Given the description of an element on the screen output the (x, y) to click on. 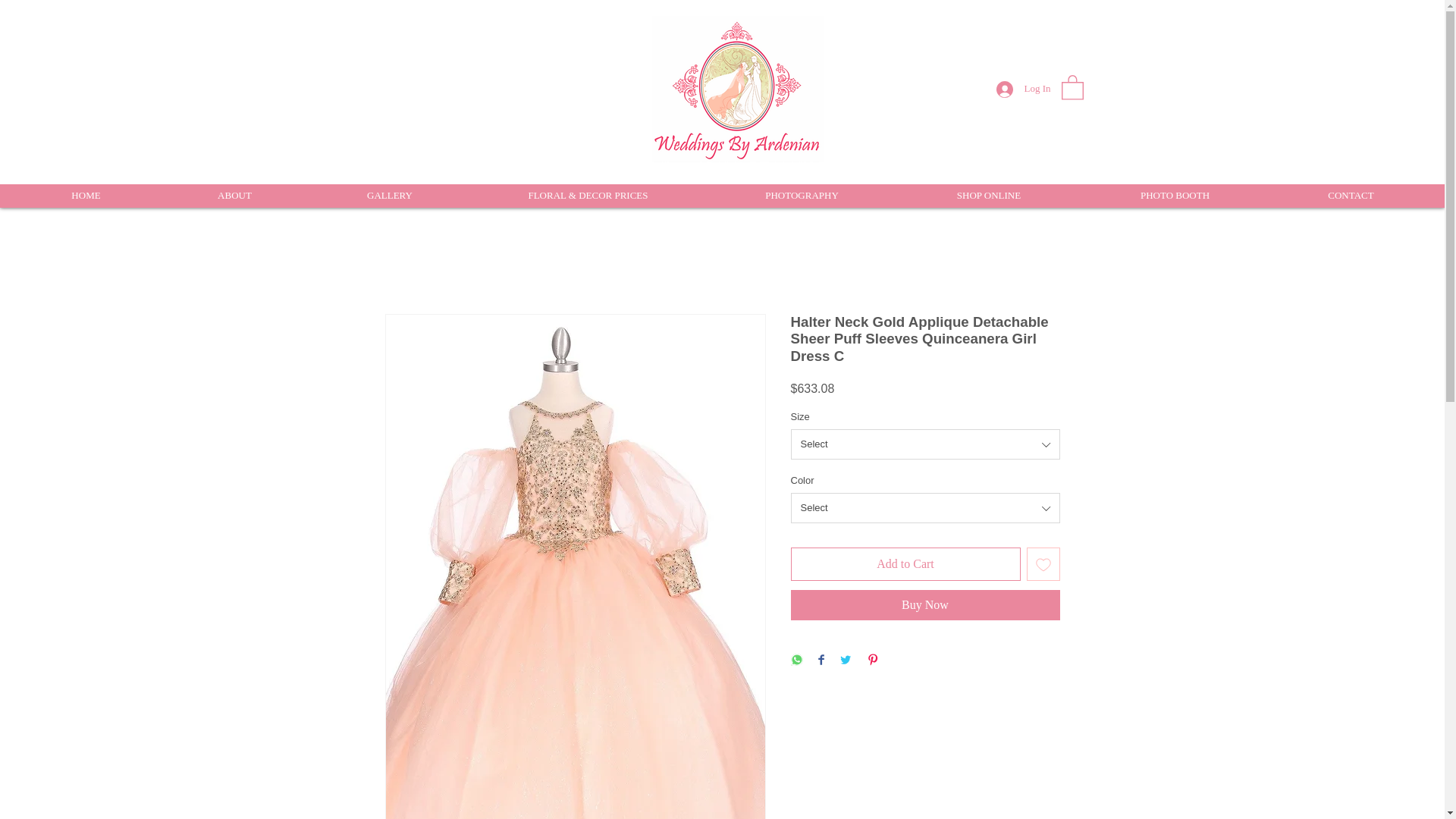
GALLERY (388, 195)
HOME (85, 195)
ABOUT (233, 195)
Log In (1023, 88)
